Given the description of an element on the screen output the (x, y) to click on. 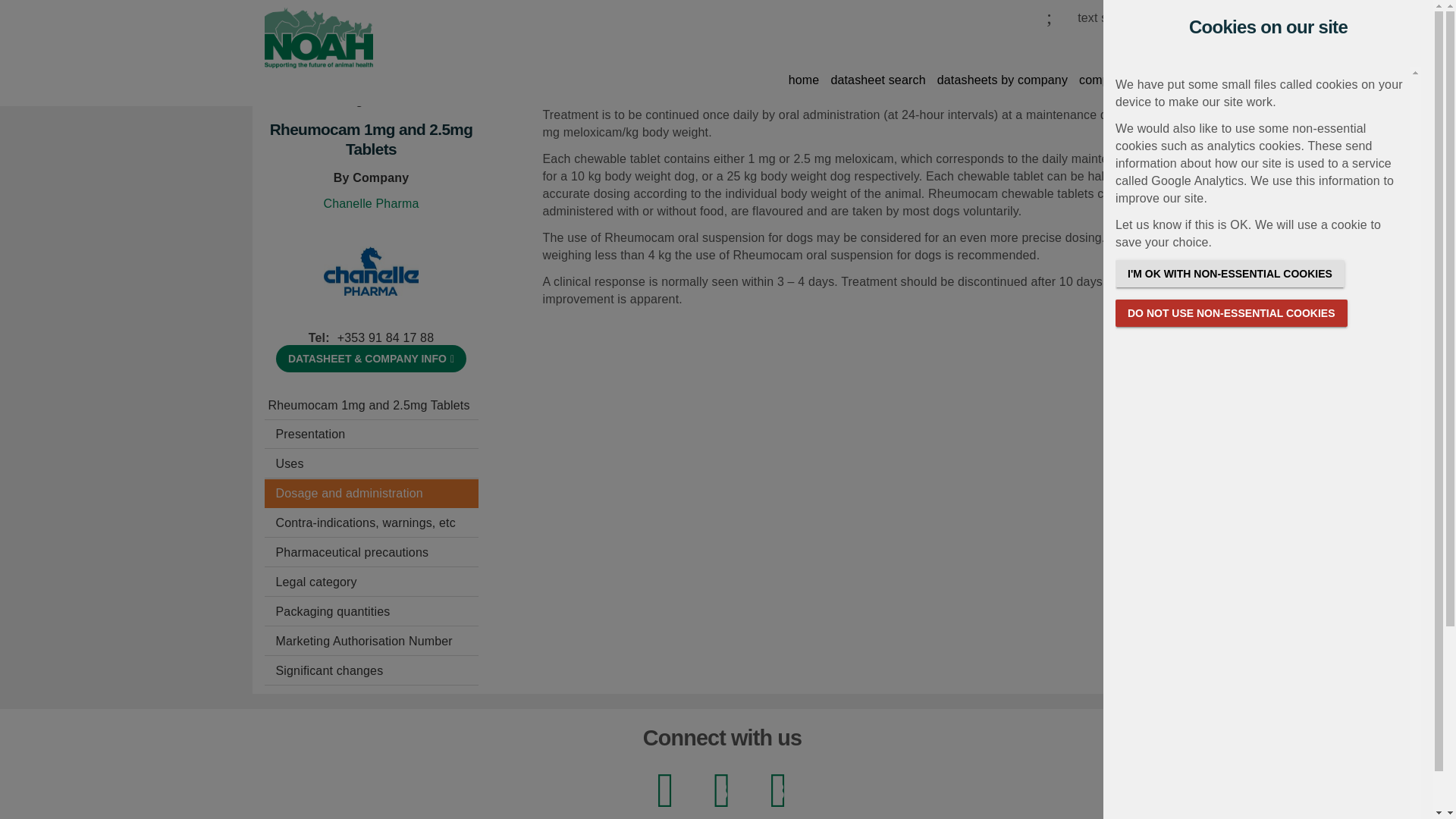
follow us on Twitter (721, 793)
Presentation (370, 434)
Legal category (370, 582)
Default banner (317, 33)
Search (996, 45)
home (804, 82)
Marketing Authorisation Number (370, 641)
Contra-indications, warnings, etc (370, 522)
Pharmaceutical precautions (370, 552)
Rheumocam 1mg and 2.5mg Tablets (370, 405)
